Given the description of an element on the screen output the (x, y) to click on. 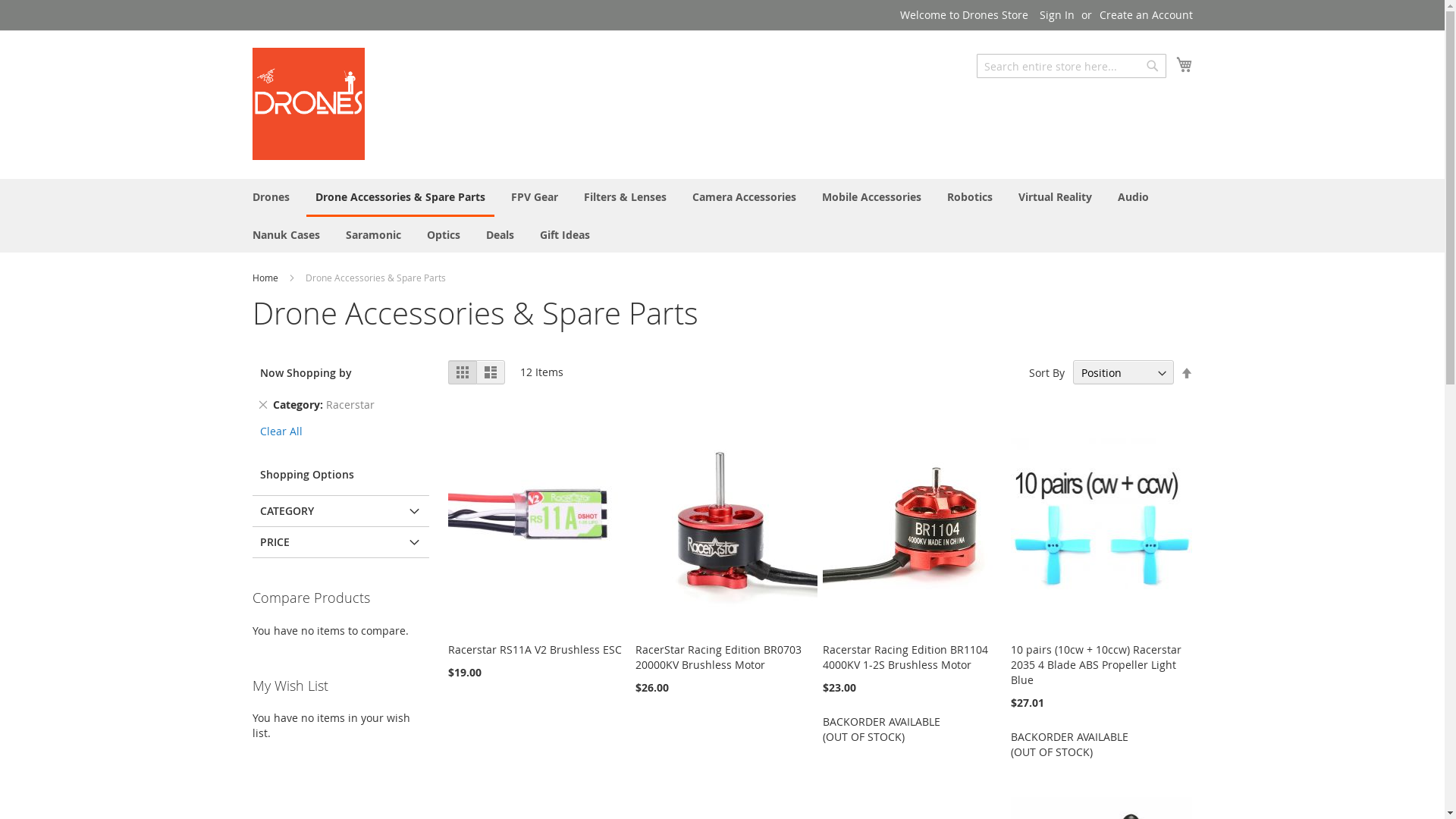
Virtual Reality Element type: text (1054, 196)
Racerstar Racing Edition BR1104 4000KV 1-2S Brushless Motor Element type: text (905, 656)
Nanuk Cases Element type: text (285, 234)
Mobile Accessories Element type: text (871, 196)
Filters & Lenses Element type: text (624, 196)
Add to Cart Element type: hover (292, 764)
Set Descending Direction Element type: text (1185, 373)
Racerstar RS11A V2 Brushless ESC Element type: text (534, 649)
Drone Accessories & Spare Parts Element type: text (400, 197)
FPV Gear Element type: text (534, 196)
Drones Element type: text (270, 196)
My Cart Element type: text (1183, 64)
Drones Store Element type: hover (307, 103)
List Element type: text (490, 372)
Add to Cart Element type: hover (292, 749)
Camera Accessories Element type: text (743, 196)
Audio Element type: text (1132, 196)
Optics Element type: text (442, 234)
Sign In Element type: text (1055, 14)
Clear All Element type: text (280, 430)
Deals Element type: text (499, 234)
Home Element type: text (265, 277)
Add to Cart Element type: hover (290, 719)
Remove This Item Element type: text (261, 403)
Create an Account Element type: text (1145, 14)
Saramonic Element type: text (373, 234)
Skip to Content Element type: text (251, 6)
RacerStar Racing Edition BR0703 20000KV Brushless Motor Element type: text (718, 656)
Search Element type: text (1152, 65)
Add to Cart Element type: hover (290, 703)
Gift Ideas Element type: text (564, 234)
Robotics Element type: text (969, 196)
